Given the description of an element on the screen output the (x, y) to click on. 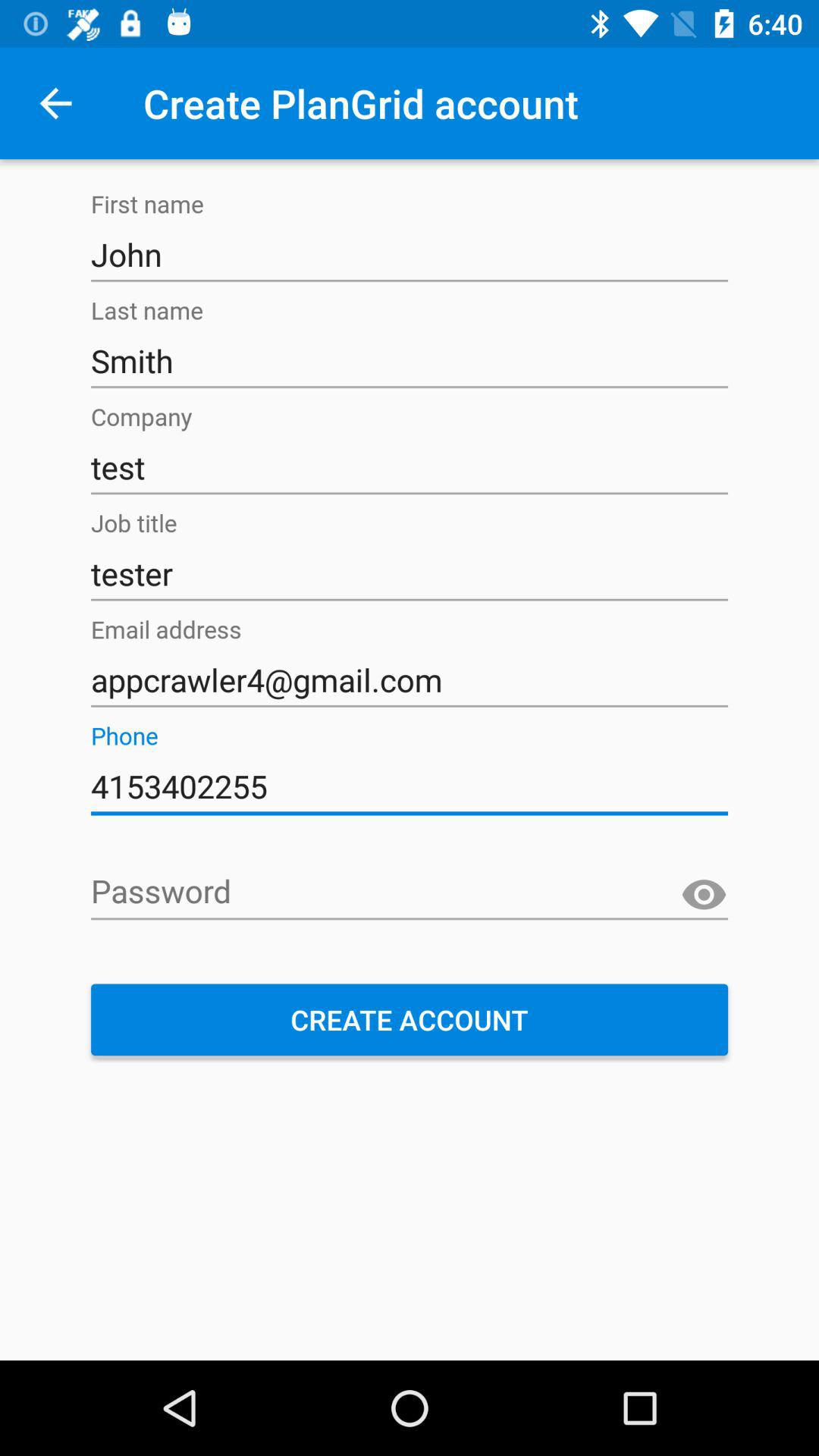
tap the john item (409, 254)
